Given the description of an element on the screen output the (x, y) to click on. 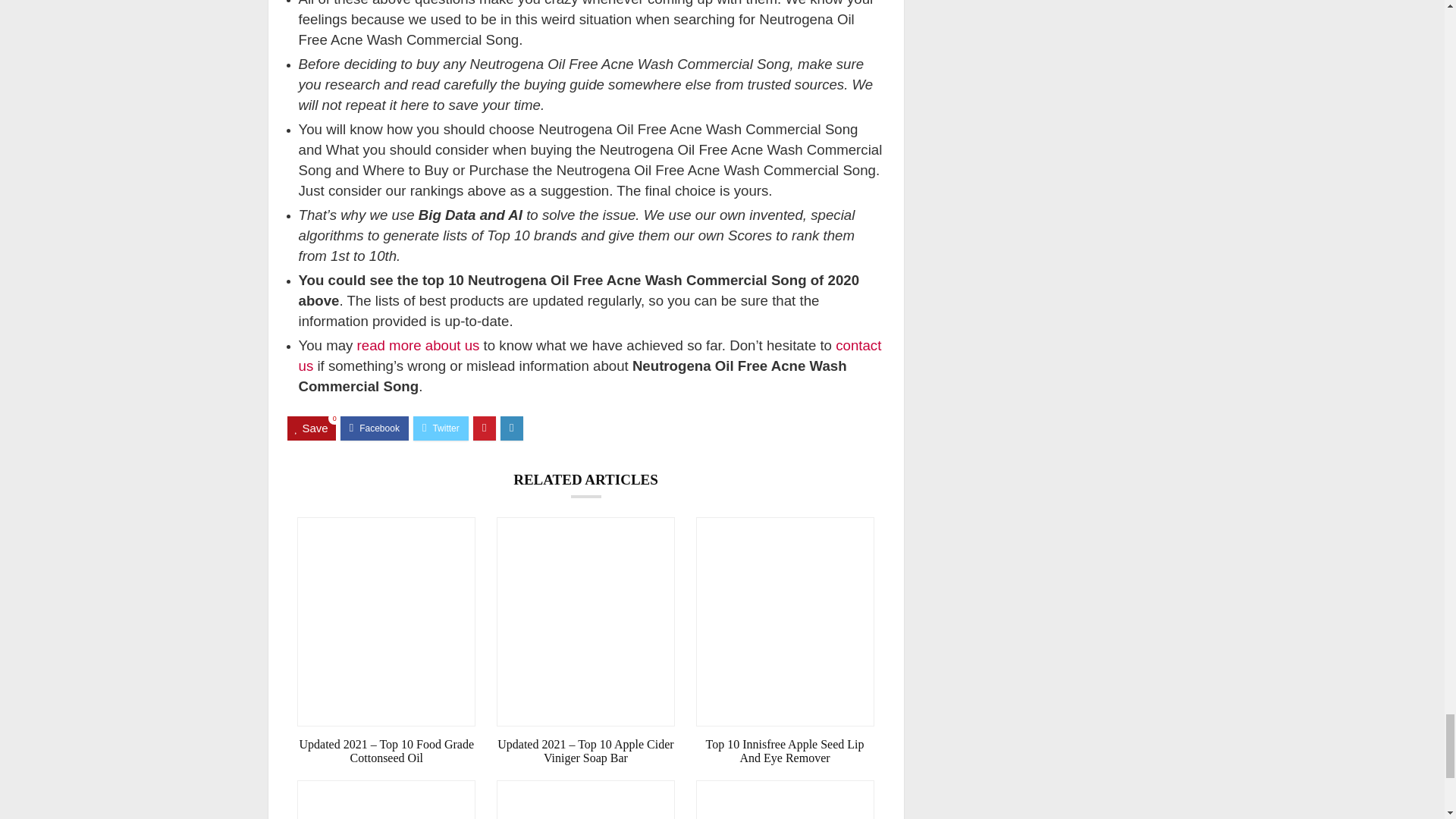
Top 10 Innisfree Apple Seed Lip And Eye Remover (785, 750)
